Given the description of an element on the screen output the (x, y) to click on. 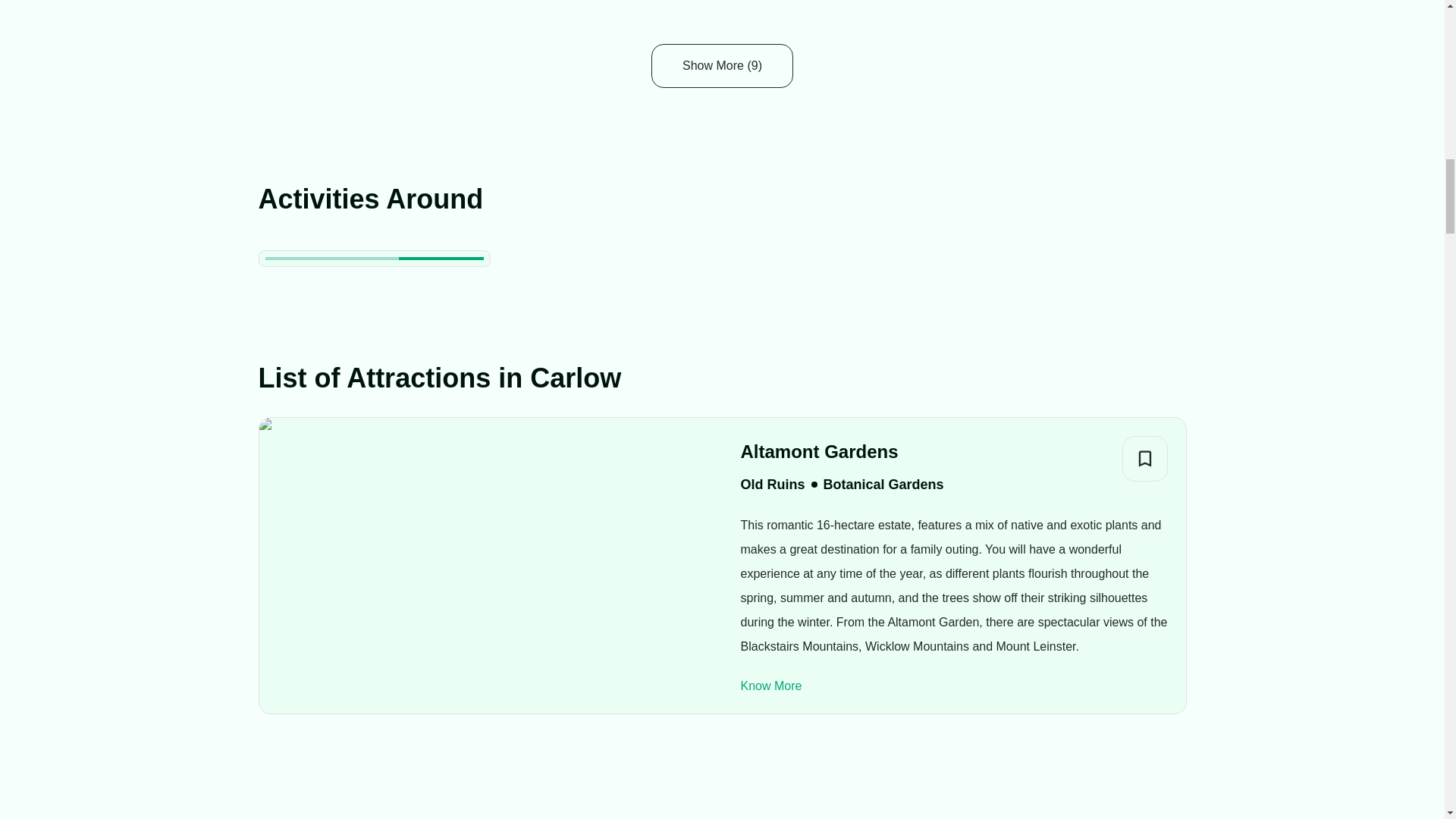
Altamont Gardens (841, 451)
Add to Bucket List (1144, 458)
Know More (770, 685)
